Given the description of an element on the screen output the (x, y) to click on. 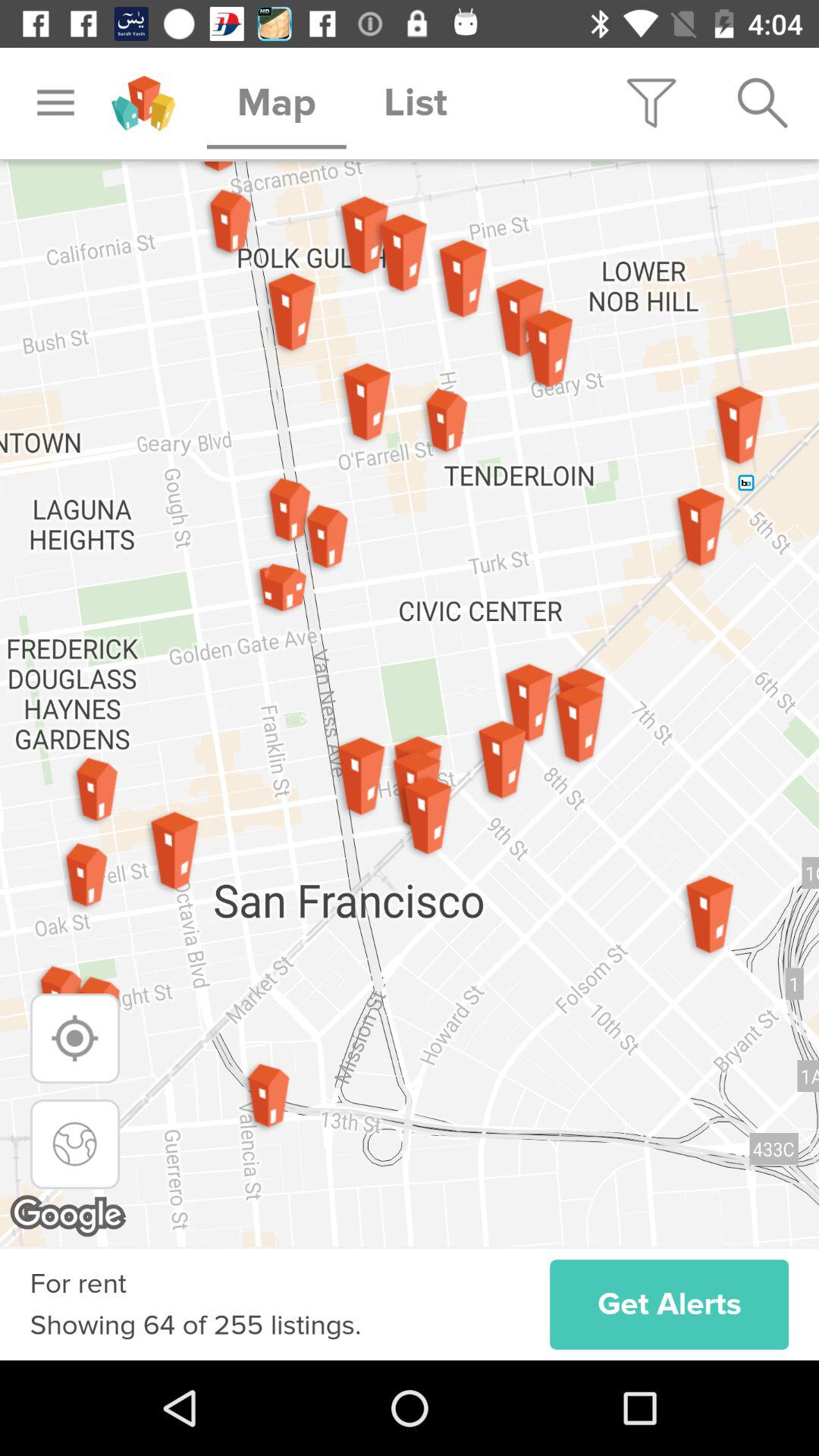
turn off item to the right of the list (651, 103)
